Given the description of an element on the screen output the (x, y) to click on. 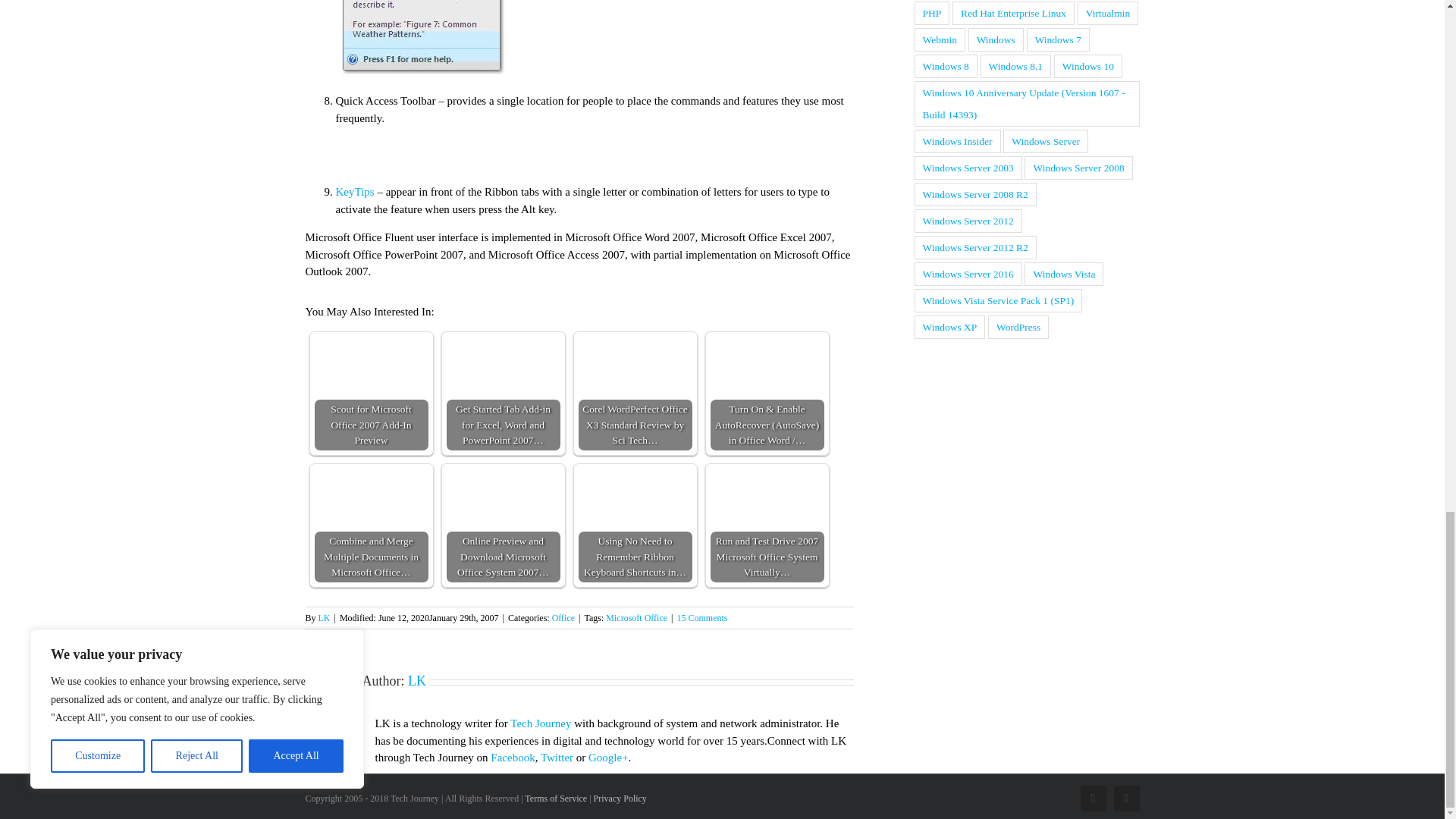
Scout for Microsoft Office 2007 Add-In Preview (371, 371)
